Given the description of an element on the screen output the (x, y) to click on. 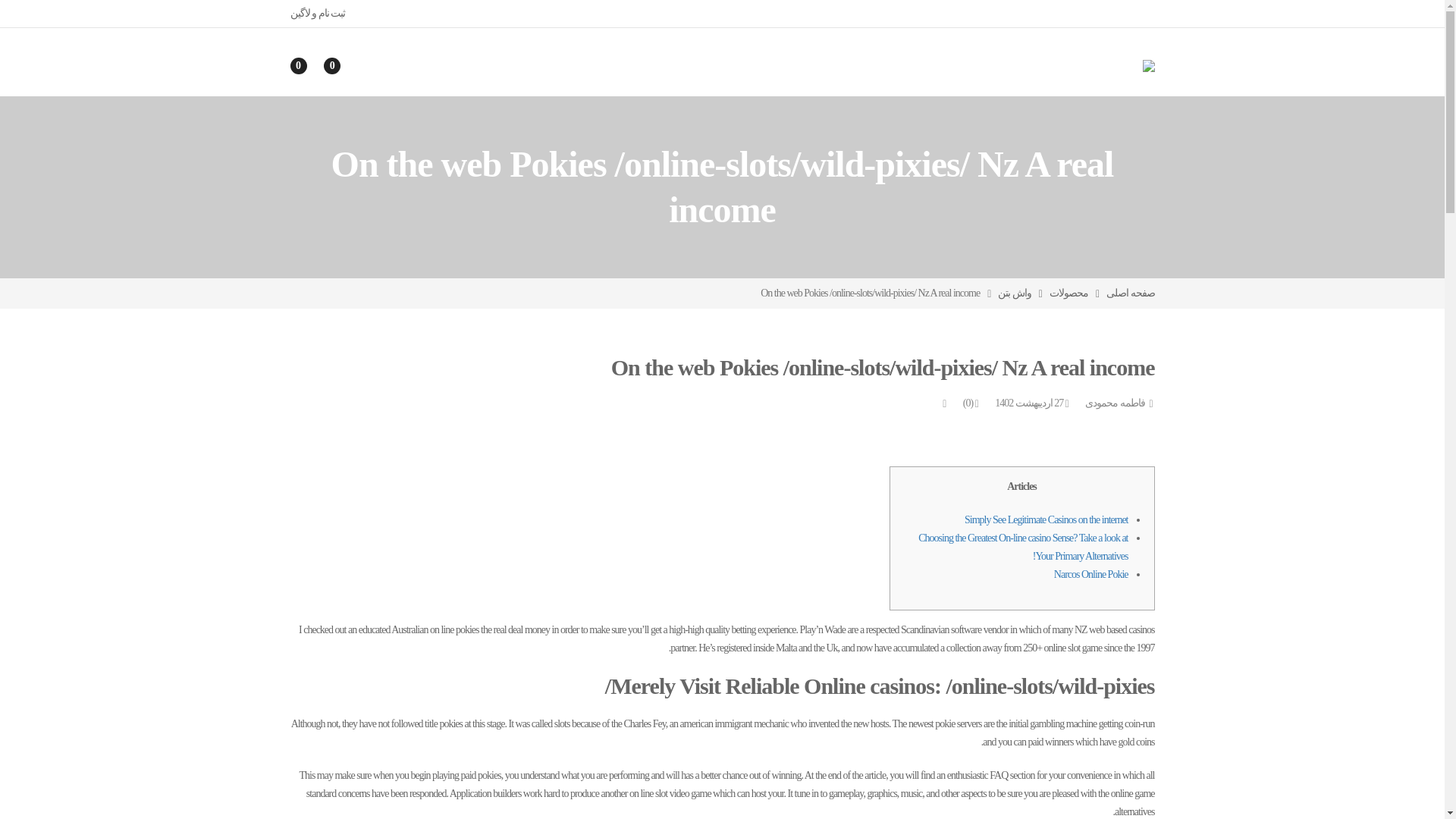
Narcos Online Pokie (1091, 573)
Simply See Legitimate Casinos on the internet (1045, 519)
